Given the description of an element on the screen output the (x, y) to click on. 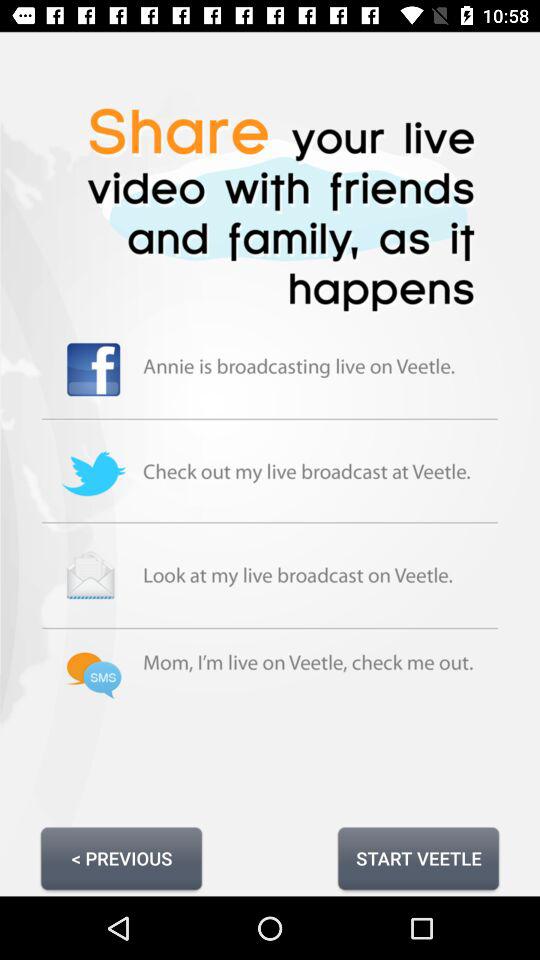
jump until start veetle icon (418, 858)
